Given the description of an element on the screen output the (x, y) to click on. 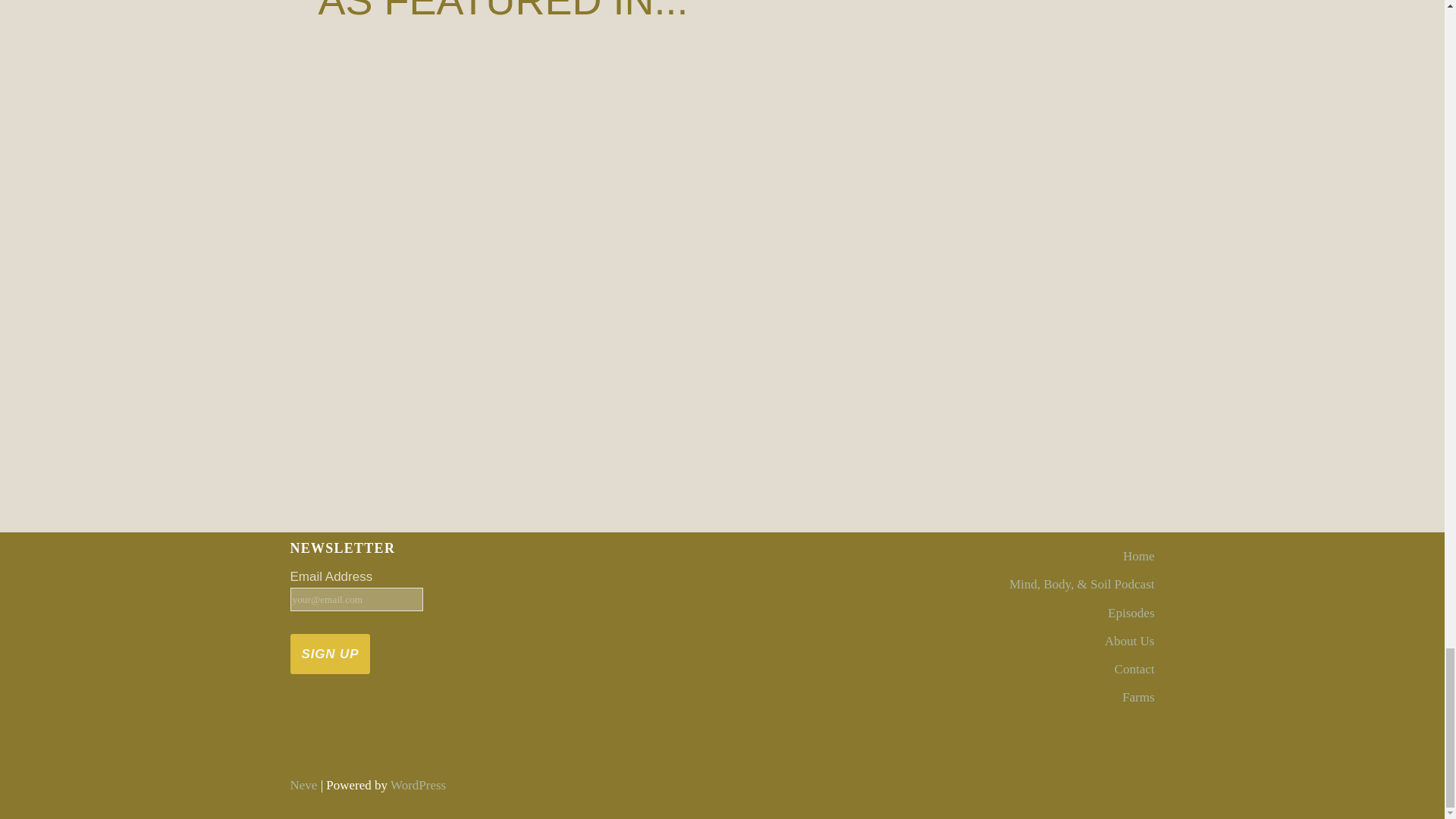
Farms (1138, 697)
Neve (303, 785)
Contact (1134, 668)
About Us (1129, 640)
Sign up (329, 653)
Home (1138, 555)
Episodes (1131, 612)
Sign up (329, 653)
WordPress (417, 785)
